Given the description of an element on the screen output the (x, y) to click on. 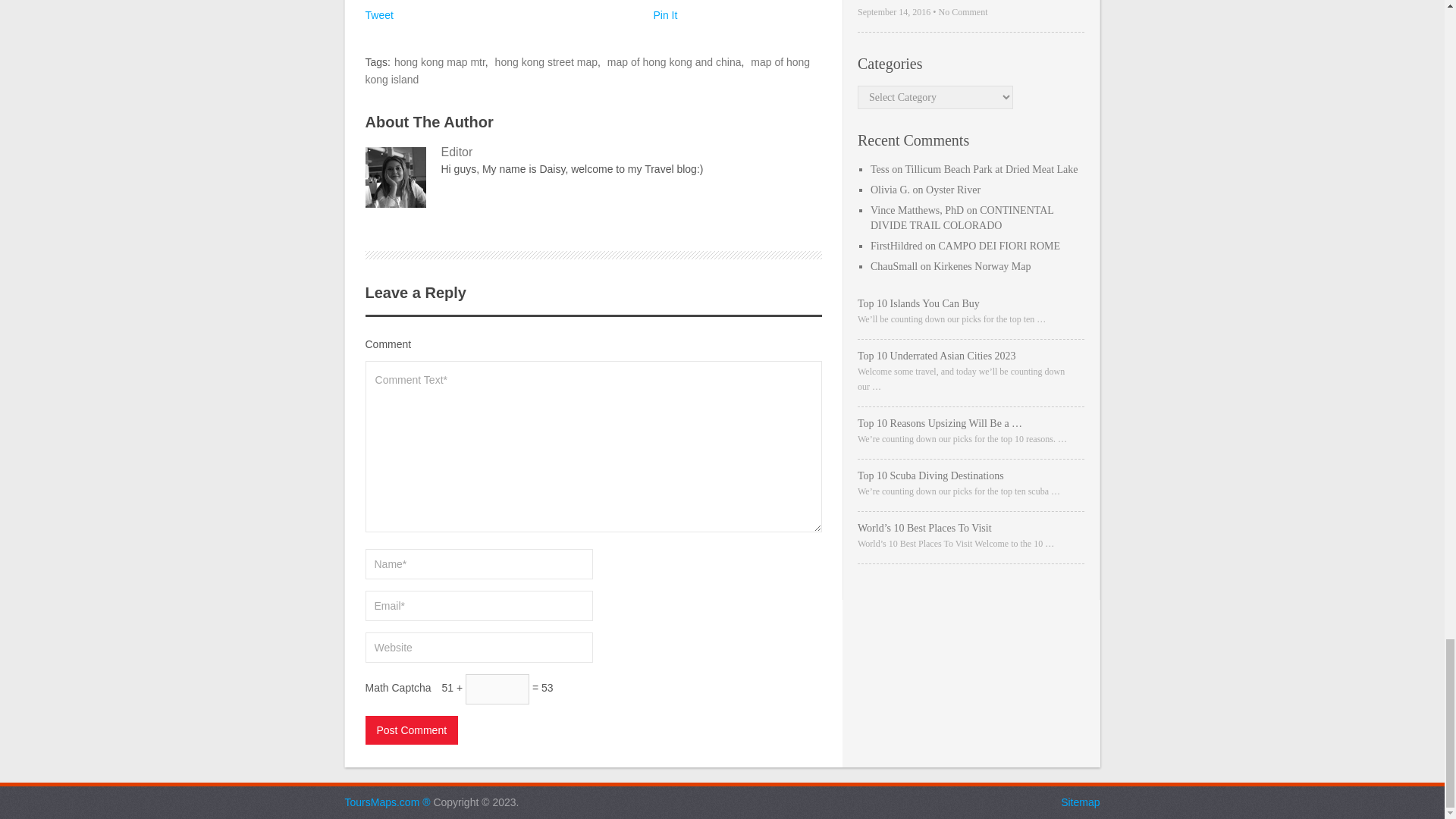
Post Comment (411, 729)
